Given the description of an element on the screen output the (x, y) to click on. 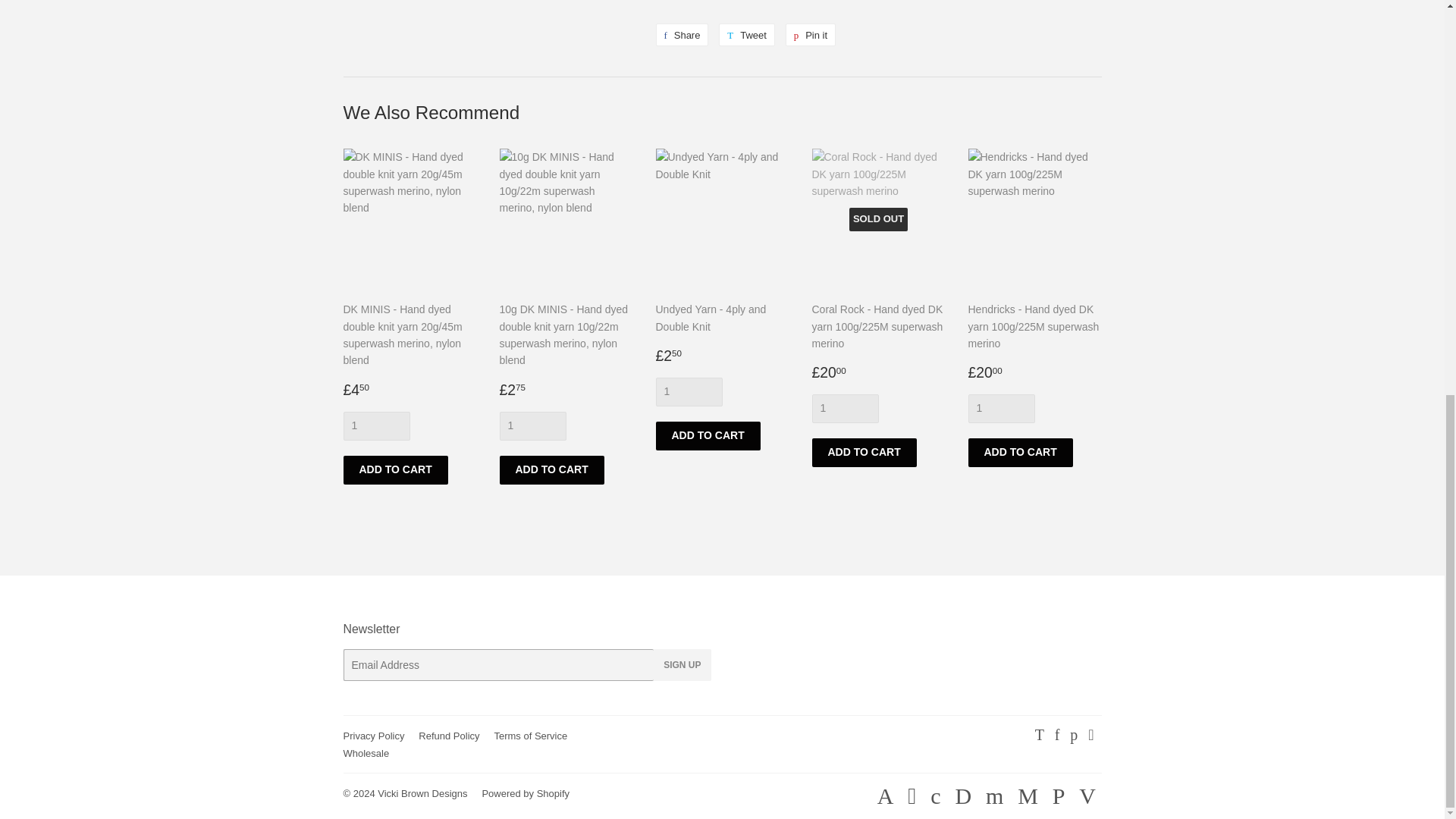
Add to cart (551, 469)
1 (681, 34)
Tweet on Twitter (843, 408)
Pin on Pinterest (746, 34)
Share on Facebook (810, 34)
1 (681, 34)
Add to cart (688, 391)
1 (1019, 452)
1 (532, 425)
